Given the description of an element on the screen output the (x, y) to click on. 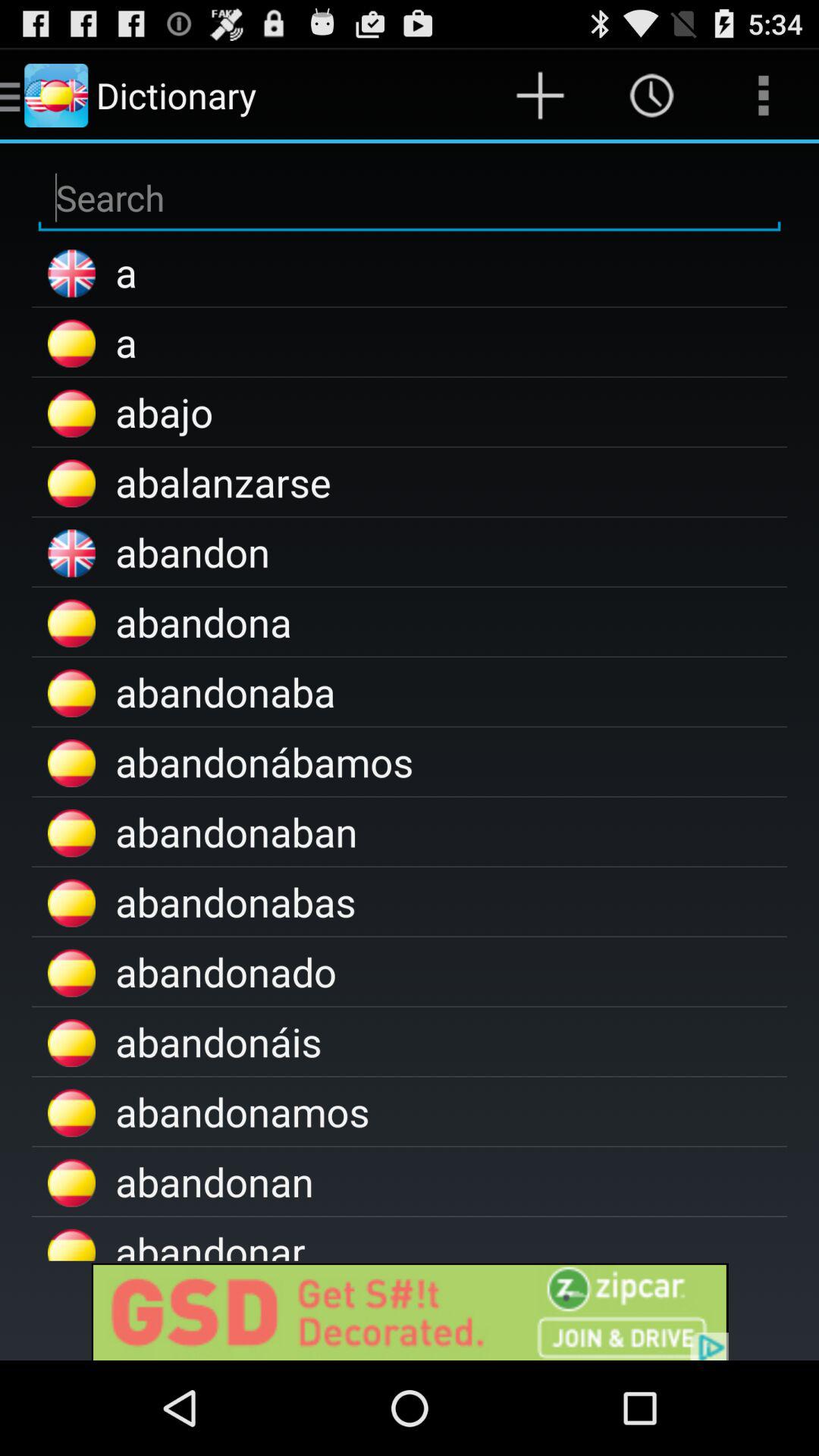
search for words (409, 198)
